Given the description of an element on the screen output the (x, y) to click on. 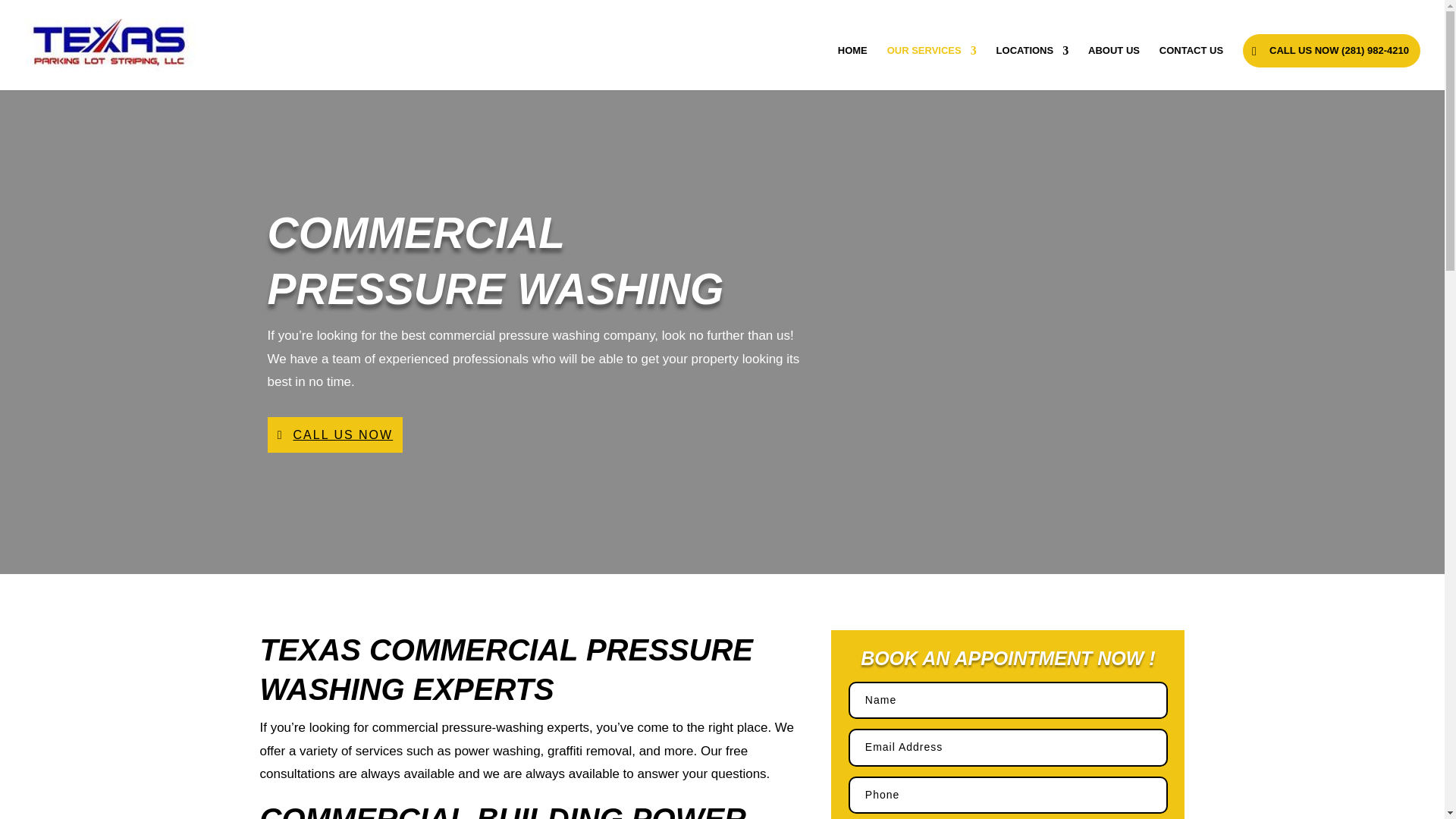
OUR SERVICES (931, 67)
ABOUT US (1113, 67)
LOCATIONS (1031, 67)
CONTACT US (1190, 67)
